Given the description of an element on the screen output the (x, y) to click on. 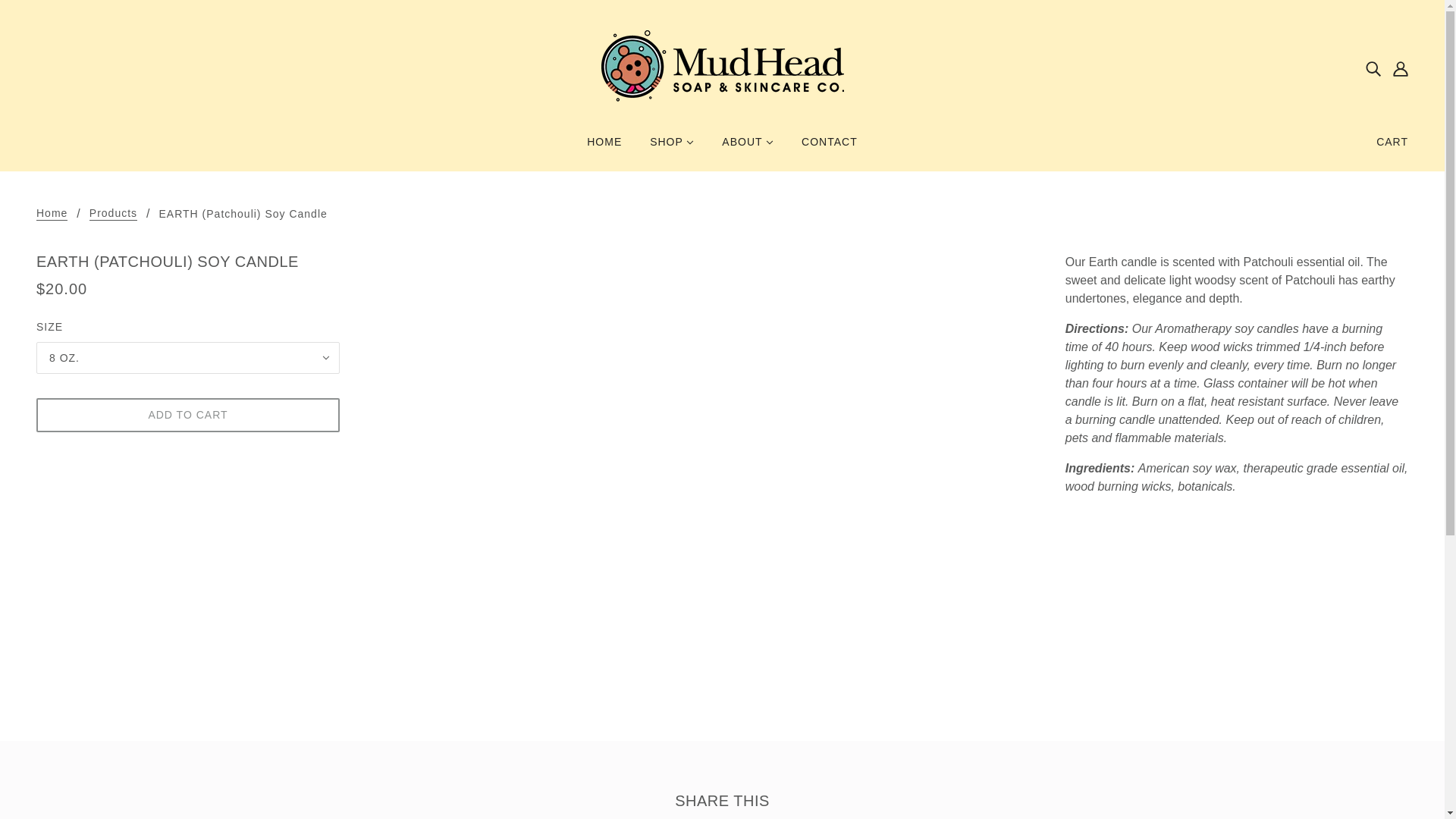
HOME (604, 147)
SHOP (671, 147)
CONTACT (829, 147)
ABOUT (748, 147)
CART (1392, 141)
